Given the description of an element on the screen output the (x, y) to click on. 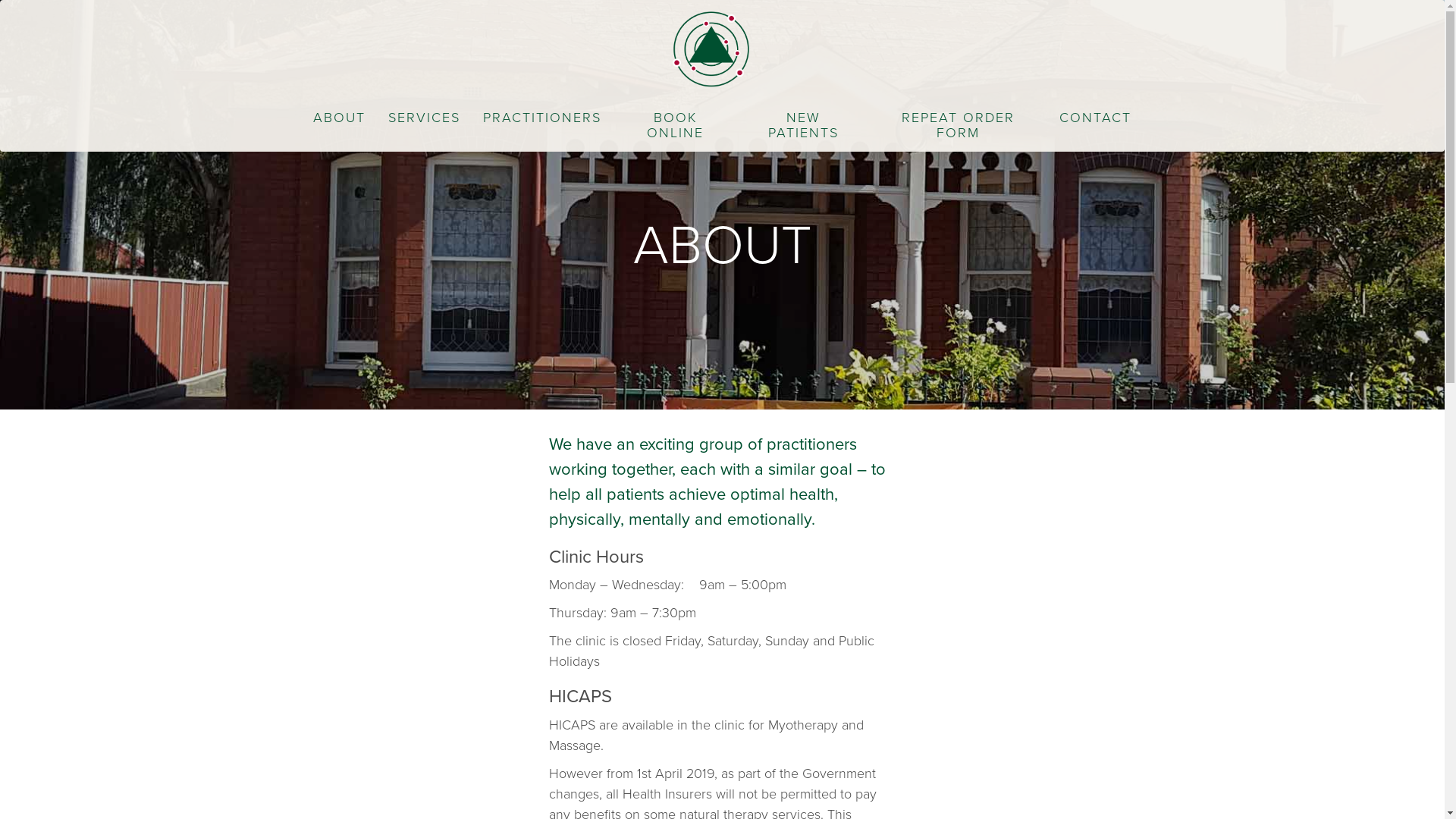
BOOK ONLINE Element type: text (675, 124)
CONTACT Element type: text (1095, 117)
NEW PATIENTS Element type: text (803, 124)
ABOUT Element type: text (338, 117)
PRACTITIONERS Element type: text (541, 117)
SERVICES Element type: text (423, 117)
REPEAT ORDER FORM Element type: text (958, 124)
